Given the description of an element on the screen output the (x, y) to click on. 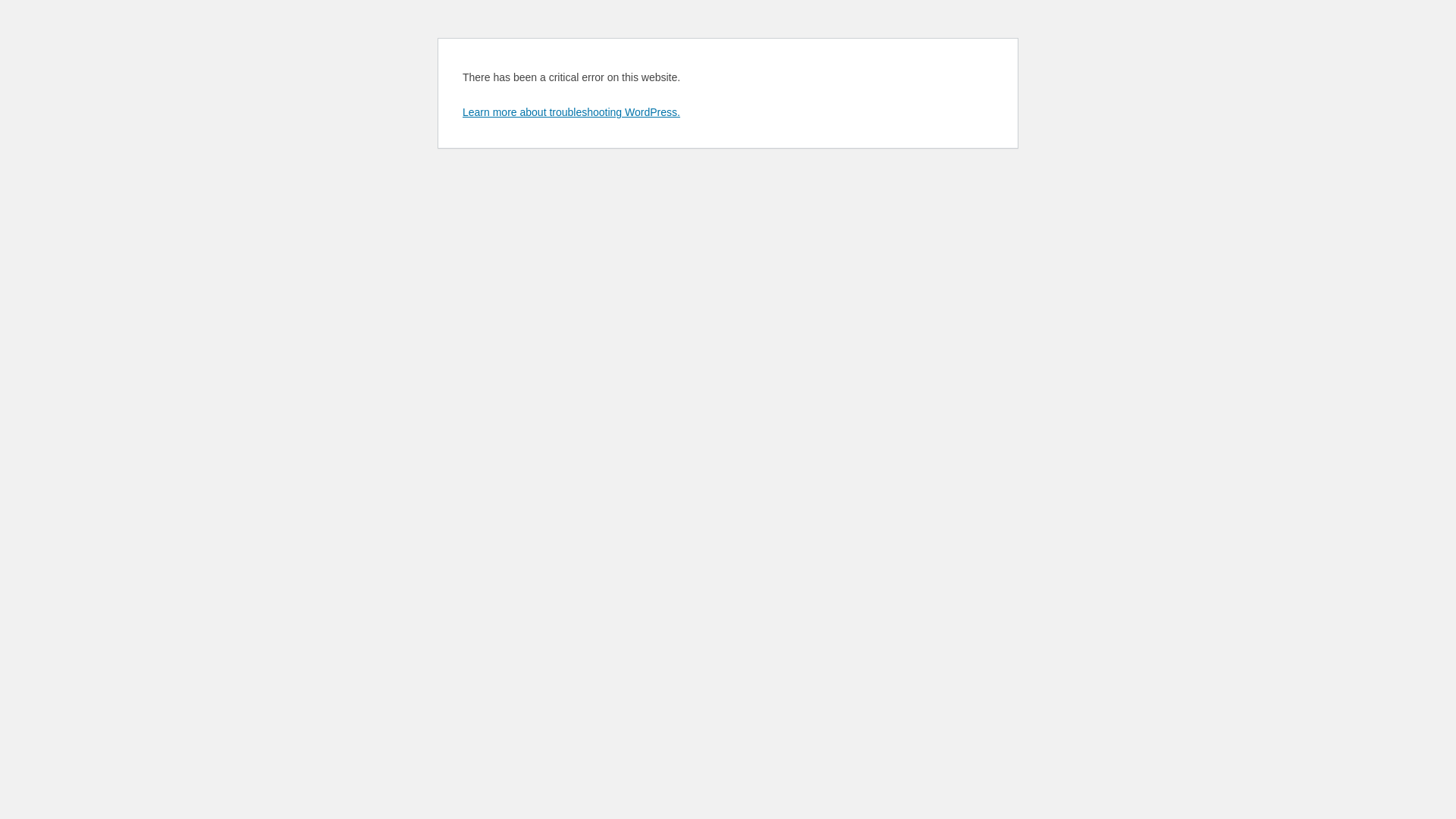
Learn more about troubleshooting WordPress. Element type: text (571, 112)
